Given the description of an element on the screen output the (x, y) to click on. 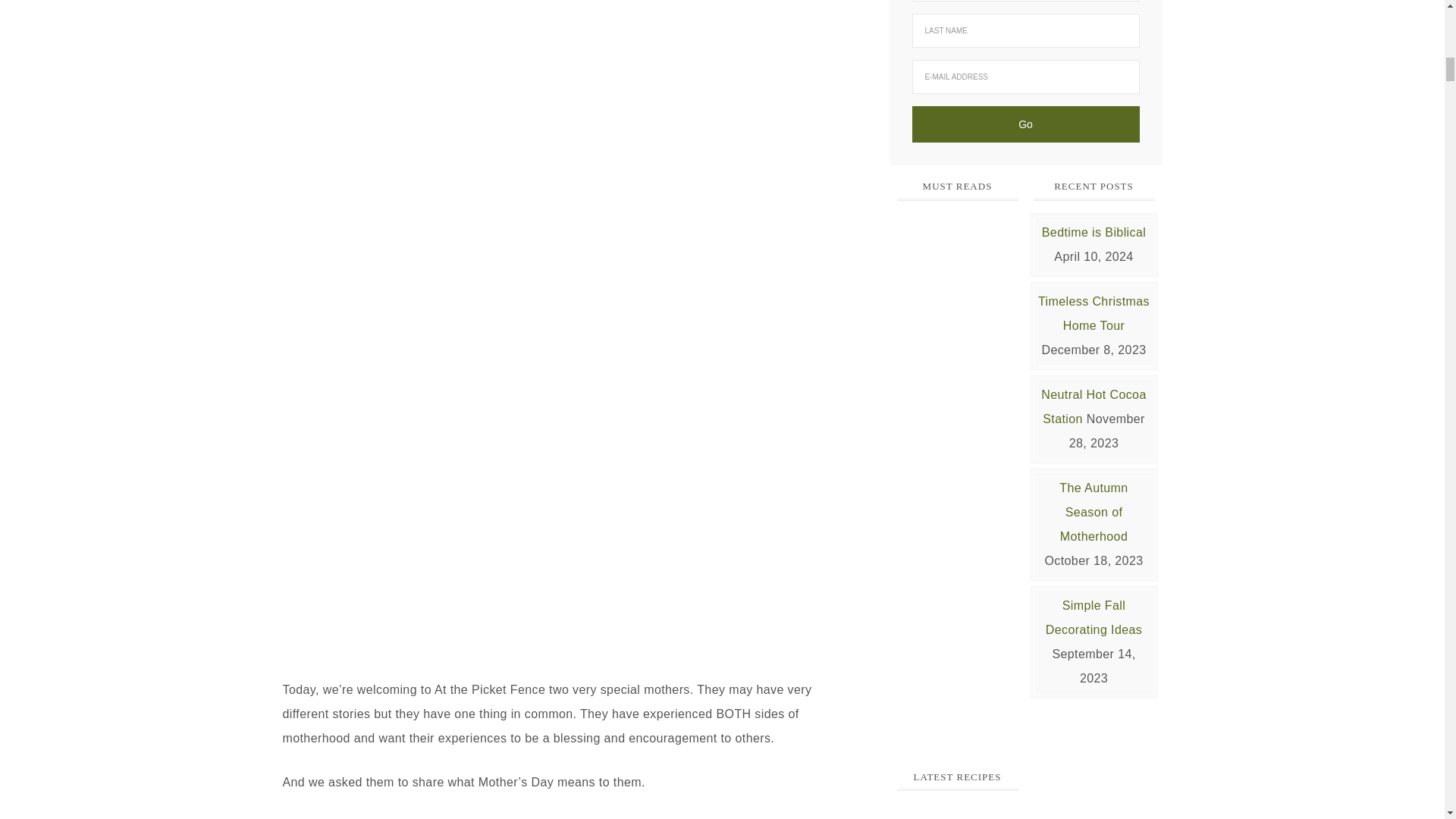
Dear Hallmark Channel (956, 308)
Strawberry Muffins with Lemon Glaze (956, 812)
Go (1024, 124)
Fall Shopping At the Picket Fence! (956, 629)
